Given the description of an element on the screen output the (x, y) to click on. 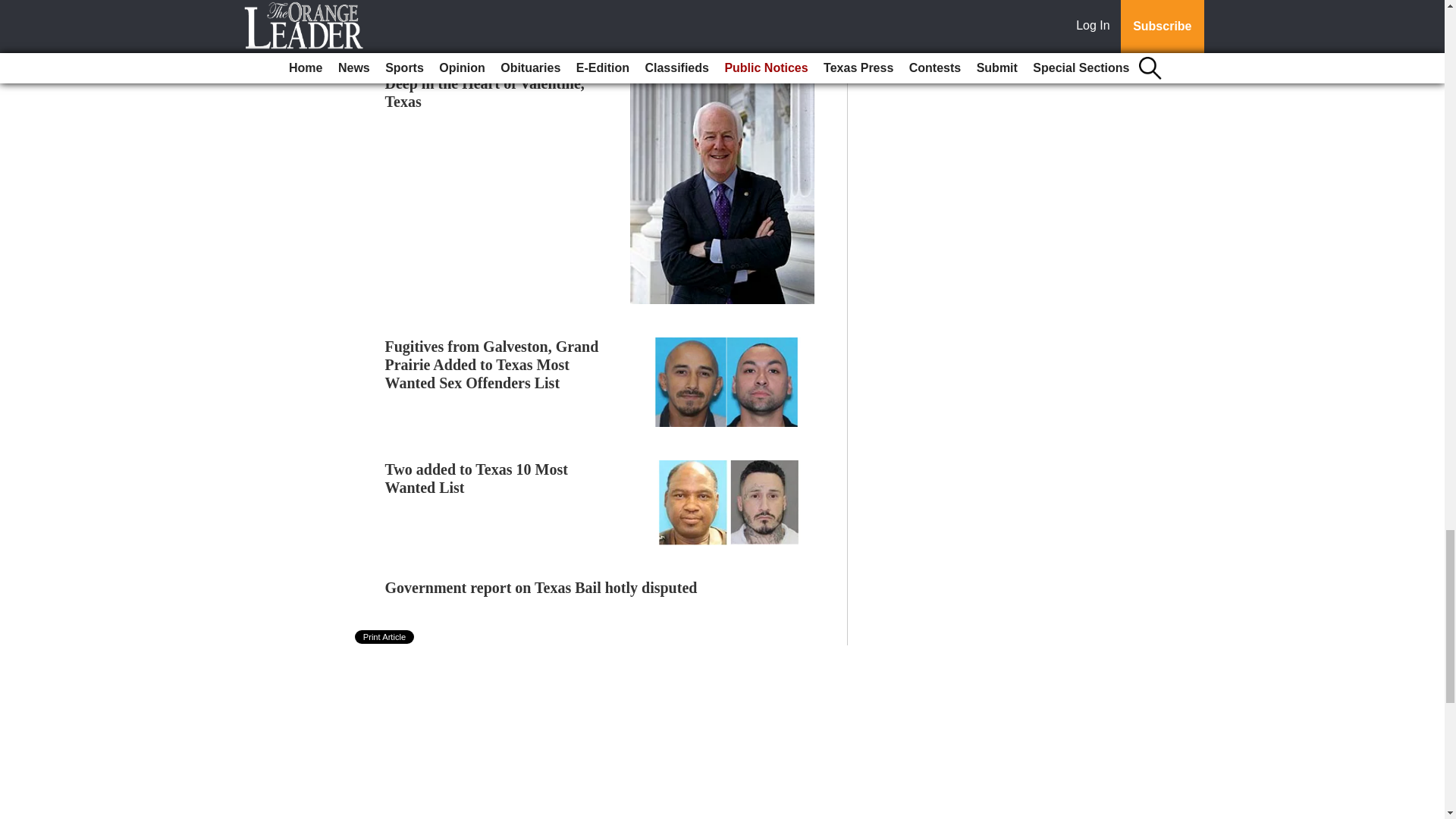
Two added to Texas 10 Most Wanted List (476, 478)
Two added to Texas 10 Most Wanted List (476, 478)
Print Article (384, 636)
Government report on Texas Bail hotly disputed (541, 587)
Deep in the Heart of Valentine, Texas (485, 92)
Deep in the Heart of Valentine, Texas (485, 92)
Government report on Texas Bail hotly disputed (541, 587)
